Given the description of an element on the screen output the (x, y) to click on. 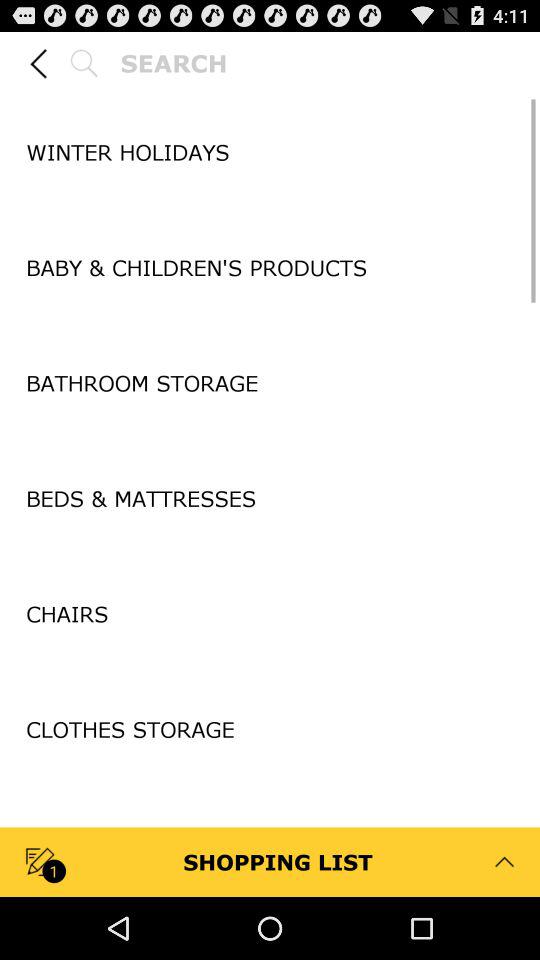
open item above the bathroom storage item (270, 325)
